Given the description of an element on the screen output the (x, y) to click on. 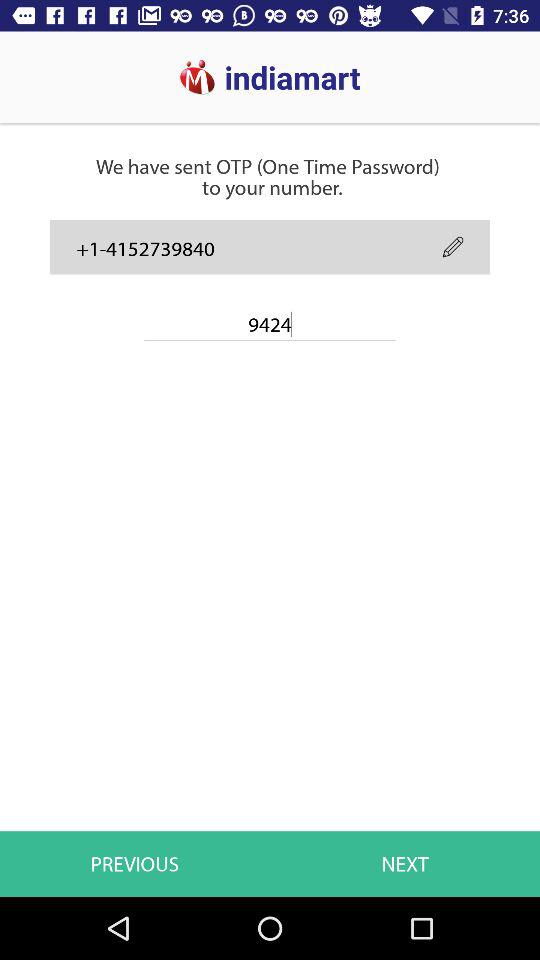
select indiamart (181, 67)
click on the previous button (138, 803)
select the text above phone number (267, 141)
